Given the description of an element on the screen output the (x, y) to click on. 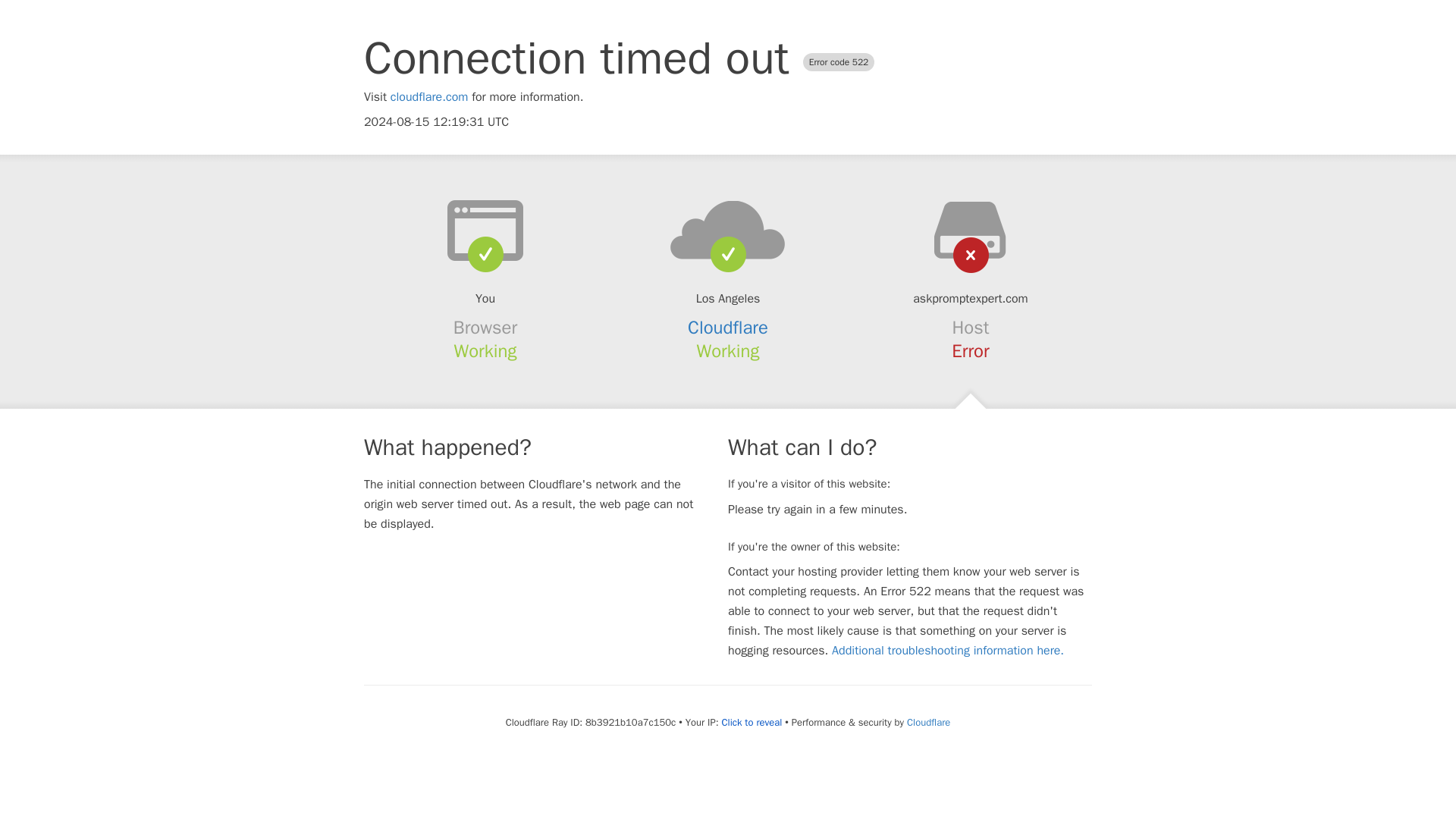
Cloudflare (727, 327)
Additional troubleshooting information here. (947, 650)
cloudflare.com (429, 96)
Cloudflare (928, 721)
Click to reveal (750, 722)
